Given the description of an element on the screen output the (x, y) to click on. 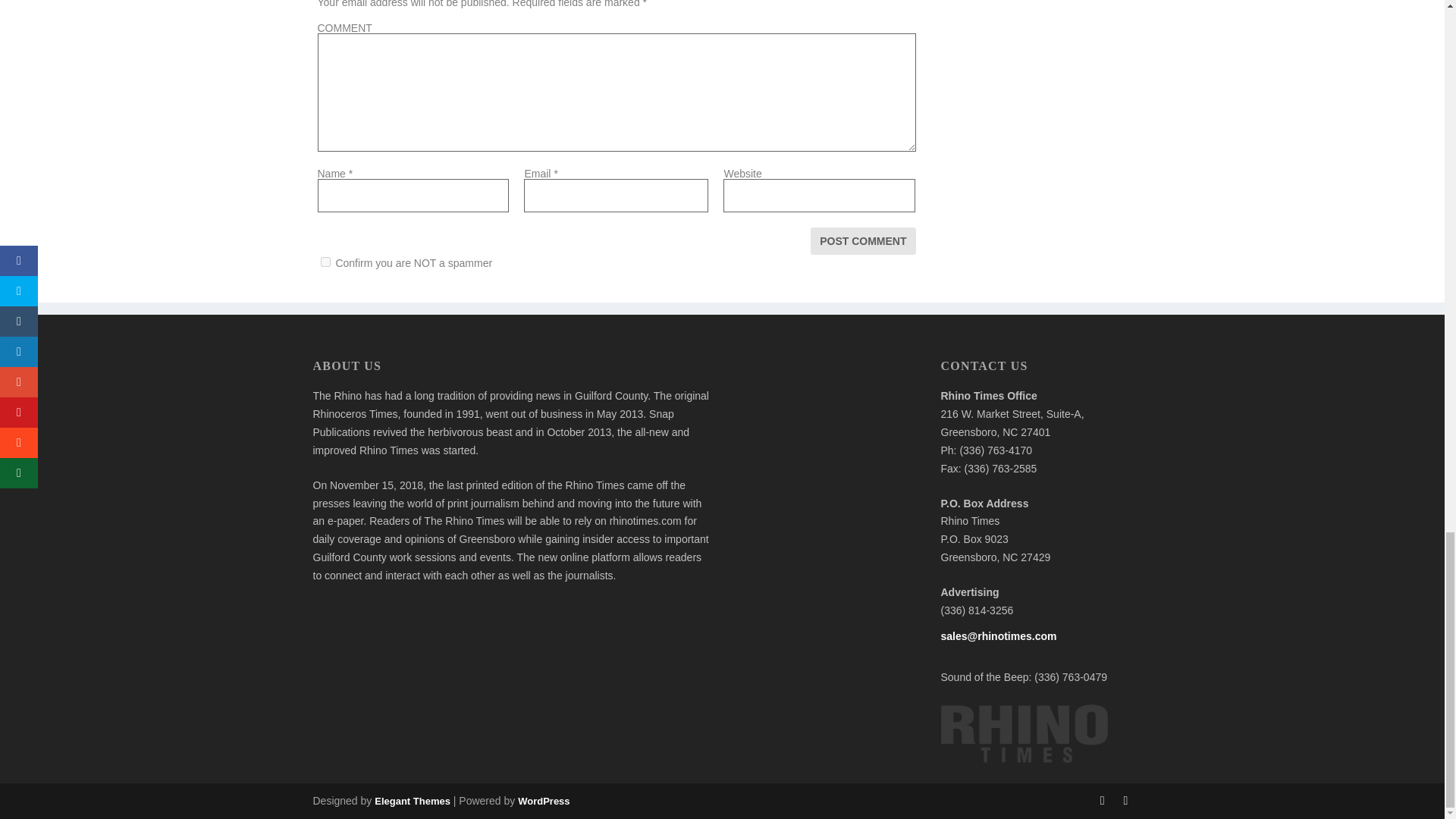
Premium WordPress Themes (411, 800)
on (325, 261)
Post Comment (862, 240)
